Given the description of an element on the screen output the (x, y) to click on. 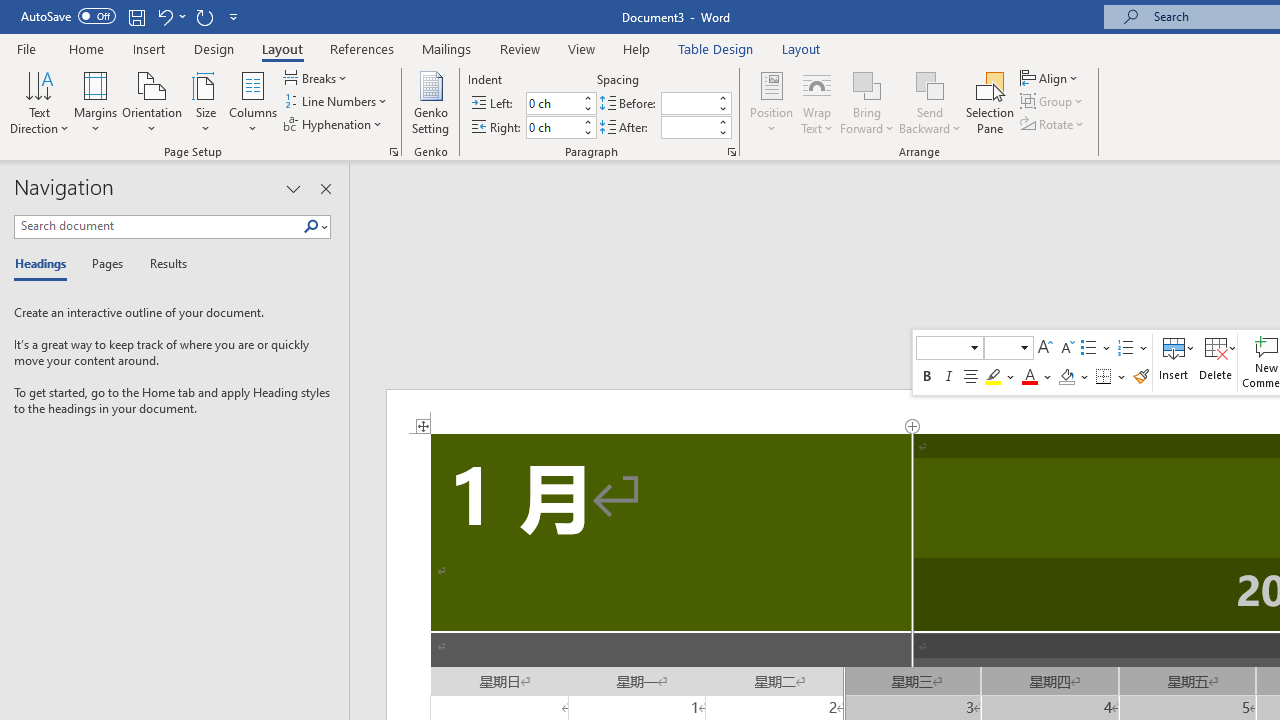
More (722, 121)
Page Setup... (393, 151)
Hyphenation (334, 124)
